Given the description of an element on the screen output the (x, y) to click on. 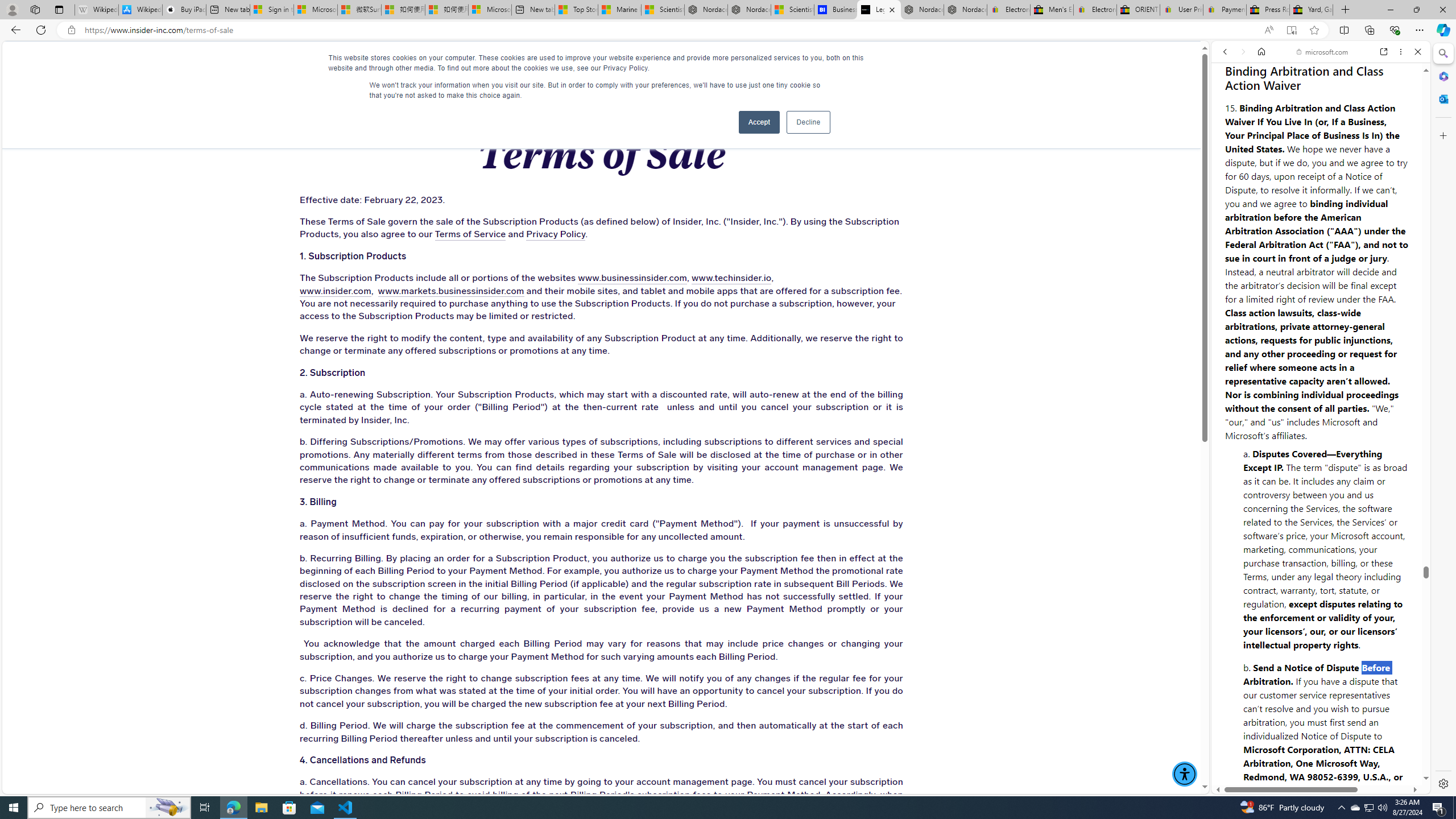
Microsoft account | Account Checkup (489, 9)
WHAT WE DO (260, 62)
Yard, Garden & Outdoor Living (1311, 9)
CONTACT US (942, 62)
Minimize Search pane (1442, 53)
